Given the description of an element on the screen output the (x, y) to click on. 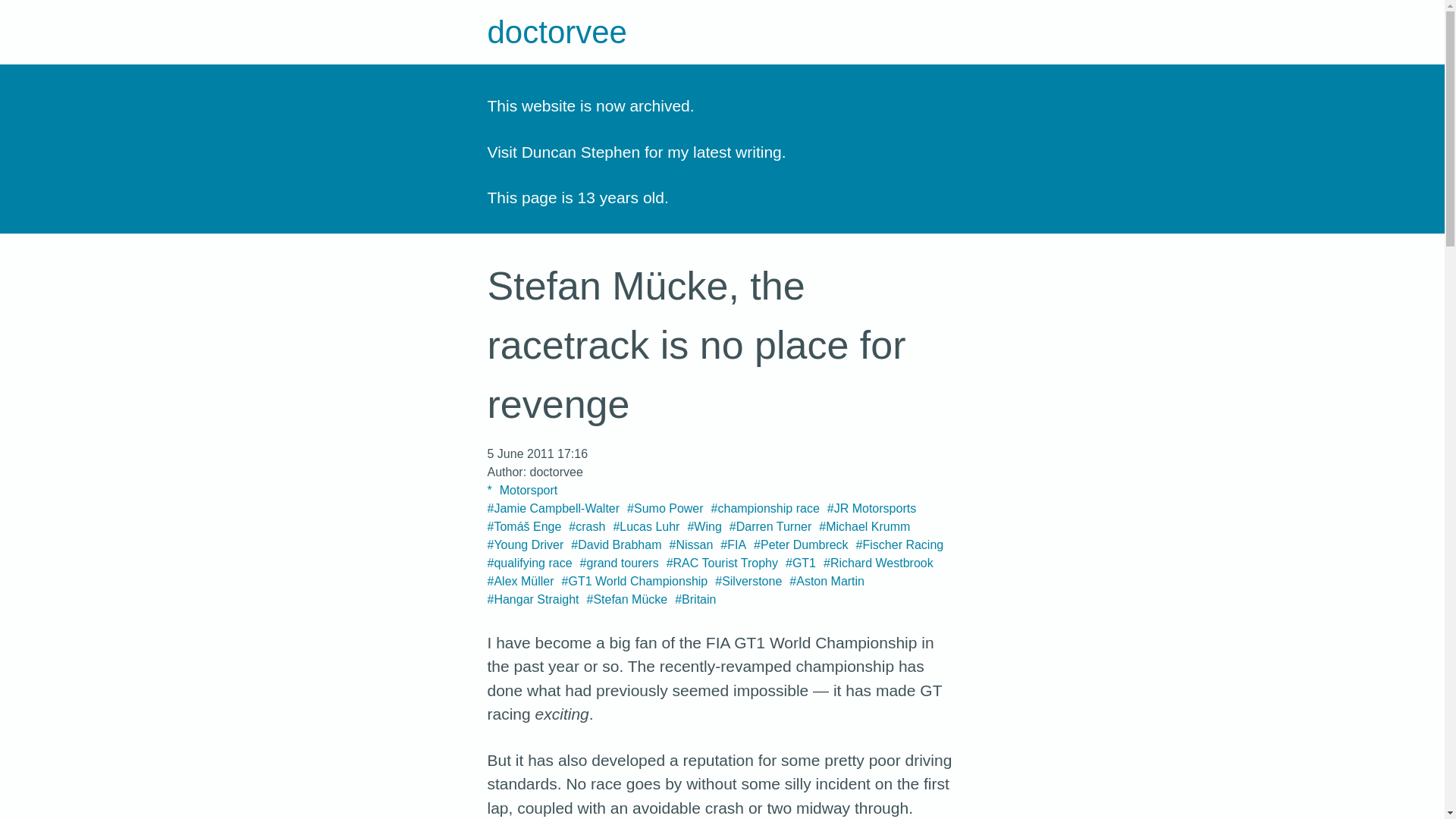
GT1 (800, 562)
Jamie Campbell-Walter (553, 508)
Young Driver (524, 544)
Richard Westbrook (878, 562)
GT1 World Championship (634, 581)
JR Motorsports (871, 508)
grand tourers (619, 562)
Hangar Straight (532, 599)
Visit Duncan Stephen for my latest writing (633, 150)
Lucas Luhr (645, 526)
